Given the description of an element on the screen output the (x, y) to click on. 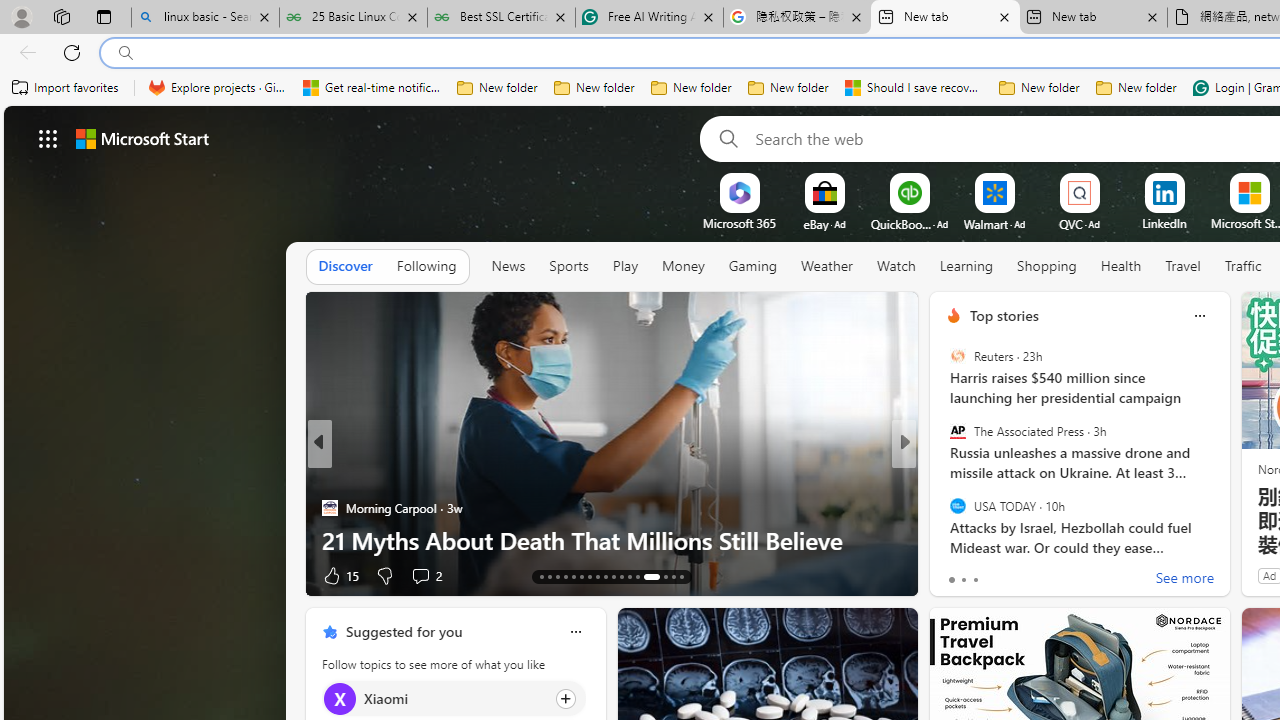
AutomationID: tab-17 (573, 576)
IT Concept (349, 507)
Should I save recovered Word documents? - Microsoft Support (913, 88)
AutomationID: tab-27 (658, 576)
AutomationID: tab-25 (637, 576)
Top stories (1003, 315)
AutomationID: tab-29 (681, 576)
Sports (568, 265)
USA TODAY (957, 505)
